Given the description of an element on the screen output the (x, y) to click on. 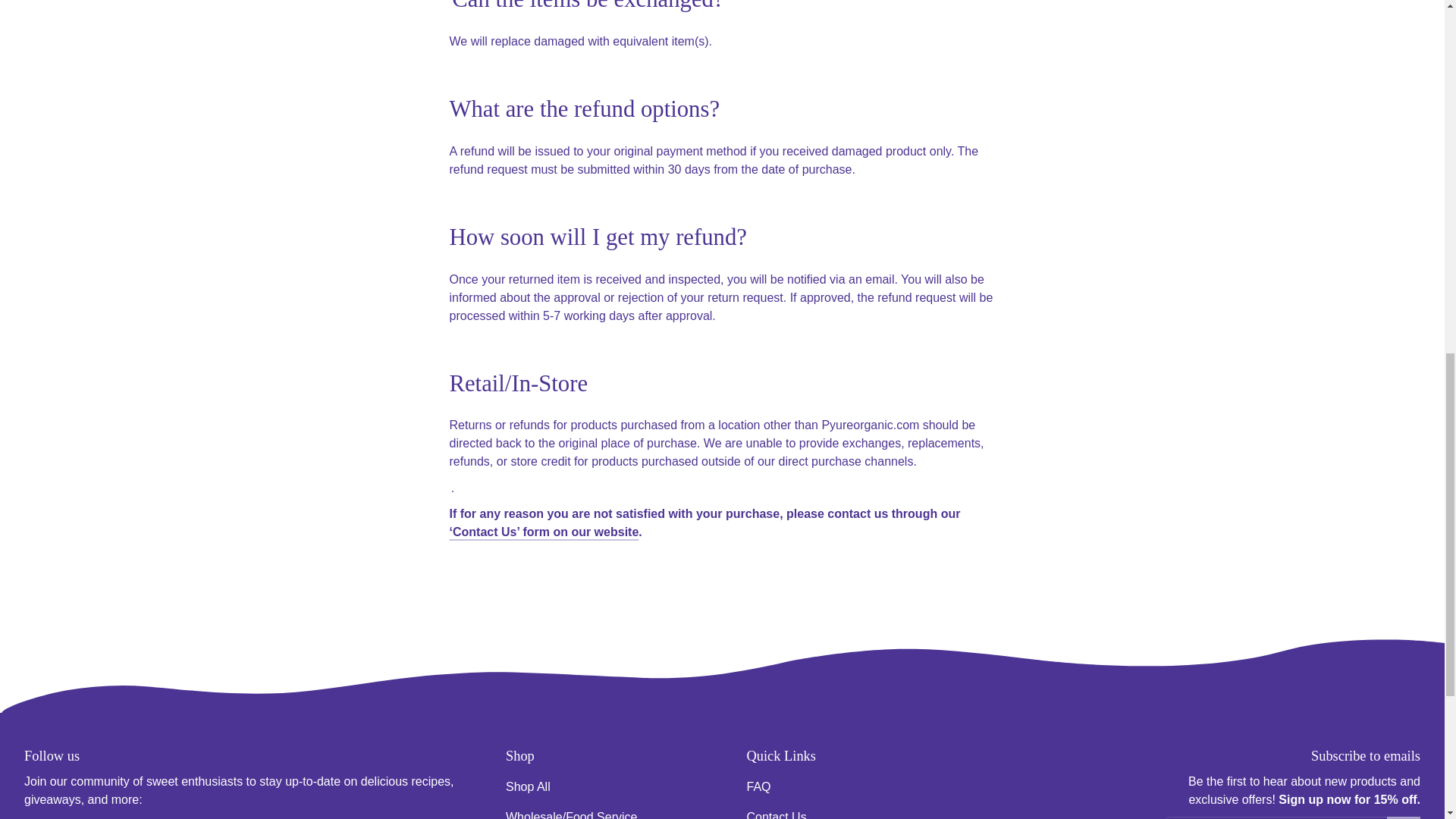
Contact Us (775, 810)
Shop All (527, 787)
